Given the description of an element on the screen output the (x, y) to click on. 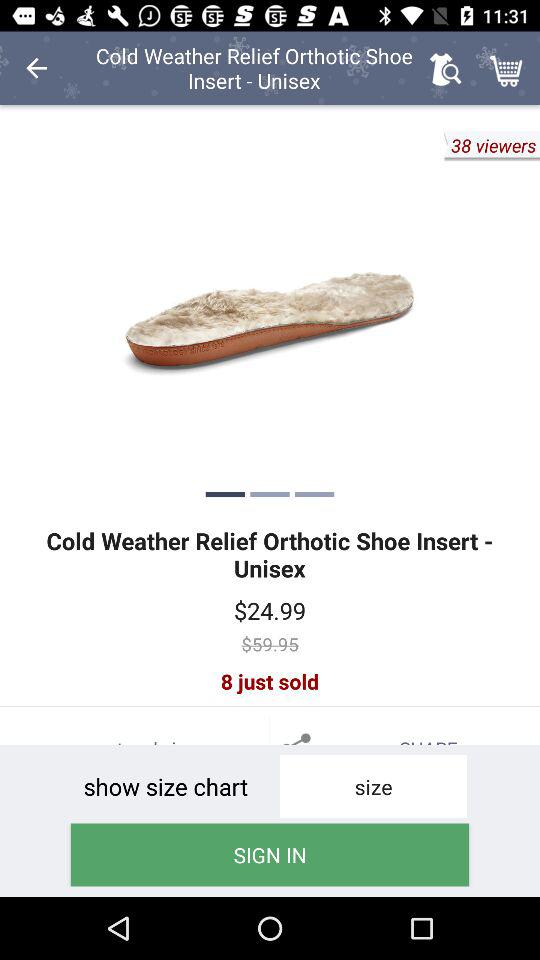
view product photo (270, 309)
